Given the description of an element on the screen output the (x, y) to click on. 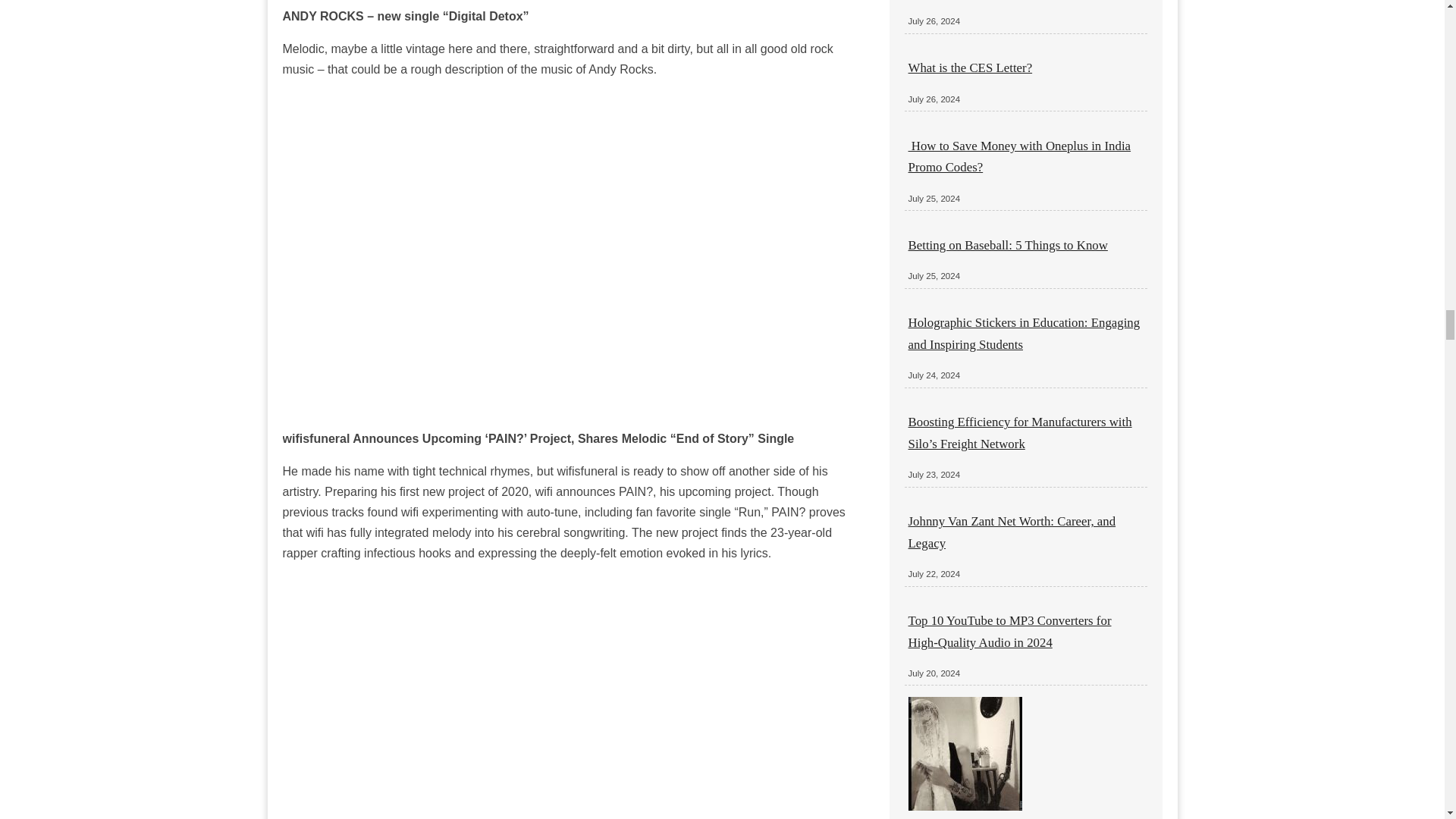
What is the CES Letter? (970, 67)
 How to Save Money with Oneplus in India Promo Codes? (1019, 156)
Betting on Baseball: 5 Things to Know (1008, 245)
